Given the description of an element on the screen output the (x, y) to click on. 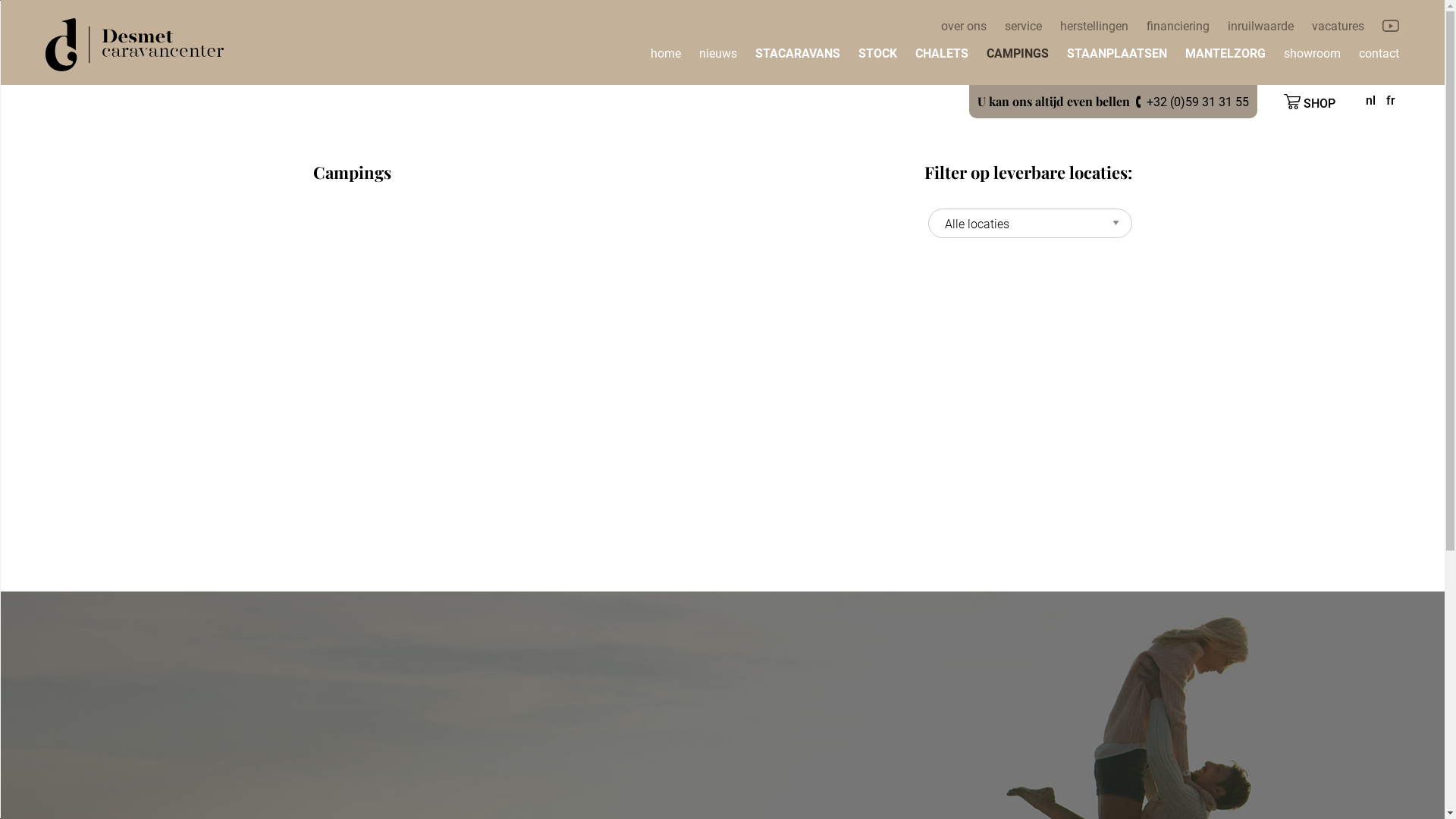
vacatures Element type: text (1337, 26)
service Element type: text (1023, 26)
nieuws Element type: text (717, 53)
MANTELZORG Element type: text (1225, 53)
CAMPINGS Element type: text (1017, 53)
inruilwaarde Element type: text (1260, 26)
fr Element type: text (1390, 100)
showroom Element type: text (1312, 53)
U kan ons altijd even bellen    +32 (0)59 31 31 55 Element type: text (1113, 101)
home Element type: text (665, 53)
CHALETS Element type: text (941, 53)
financiering Element type: text (1178, 26)
herstellingen Element type: text (1093, 26)
nl Element type: text (1370, 100)
STOCK Element type: text (877, 53)
STACARAVANS Element type: text (797, 53)
SHOP Element type: text (1309, 101)
STAANPLAATSEN Element type: text (1116, 53)
over ons Element type: text (963, 26)
contact Element type: text (1378, 53)
